Given the description of an element on the screen output the (x, y) to click on. 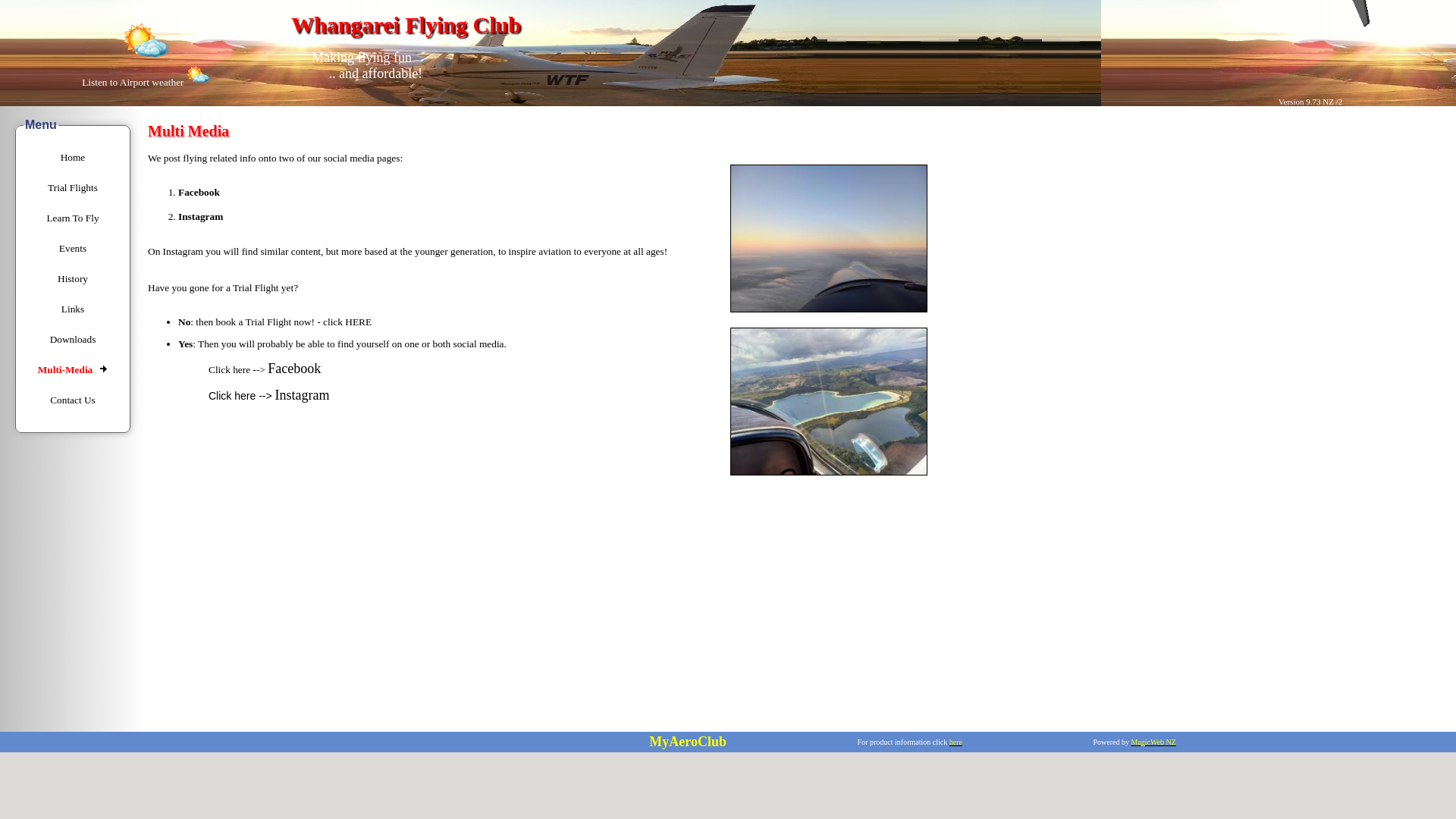
Downloads (72, 338)
Facebook (293, 368)
here (955, 741)
Facebook (293, 368)
Events (72, 247)
Instagram (302, 394)
Trial Flight (358, 321)
WR weather info (197, 74)
Links (72, 308)
History (72, 278)
Trial Flights (72, 187)
MagicWeb NZ (1153, 741)
Click for local weather info (145, 40)
Instagram (302, 394)
Home (73, 156)
